Given the description of an element on the screen output the (x, y) to click on. 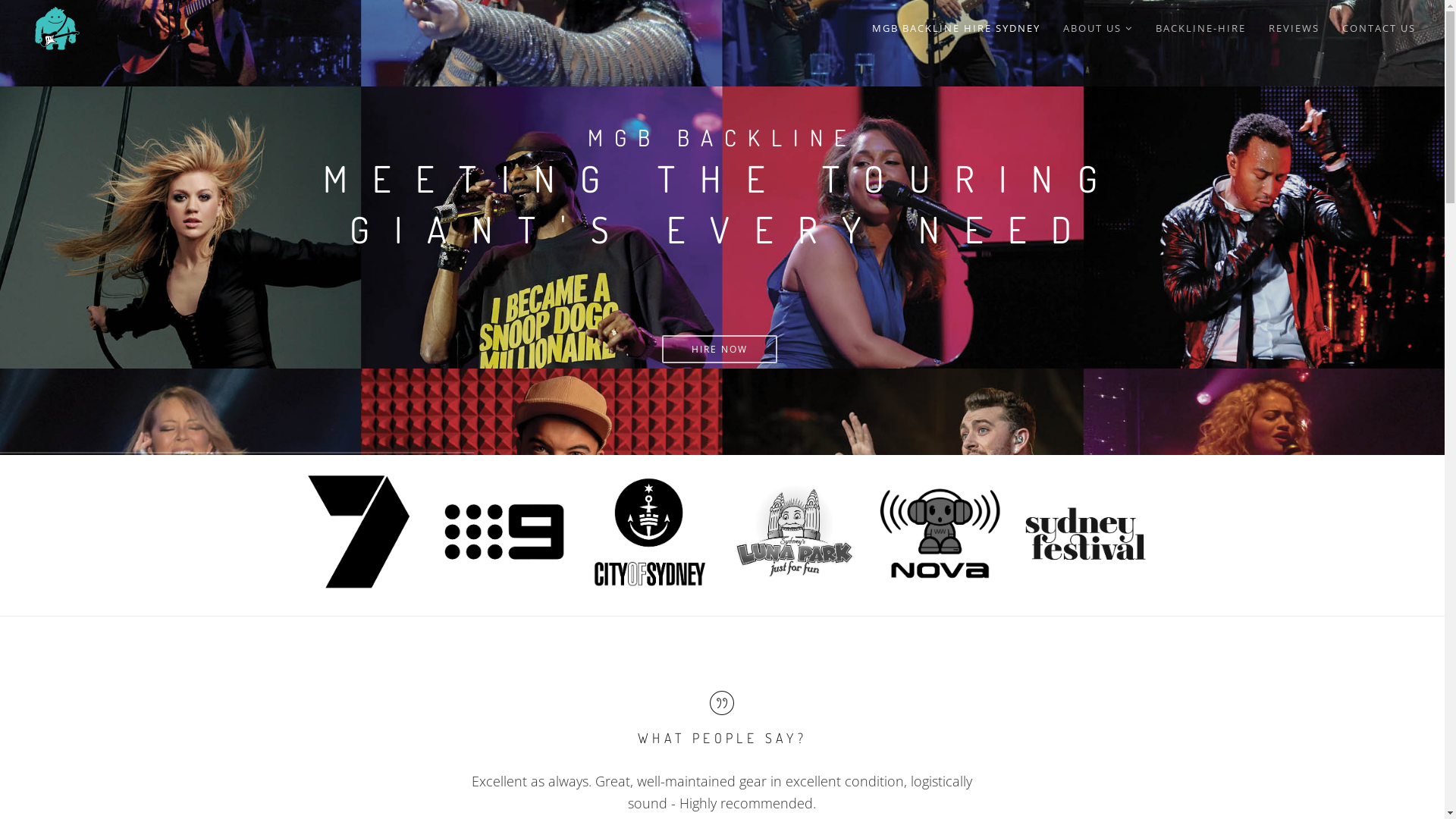
MGB BACKLINE HIRE SYDNEY Element type: text (956, 28)
HIRE NOW Element type: text (718, 349)
REVIEWS Element type: text (1293, 28)
CONTACT US Element type: text (1378, 28)
ABOUT US Element type: text (1097, 28)
BACKLINE-HIRE Element type: text (1200, 28)
